Given the description of an element on the screen output the (x, y) to click on. 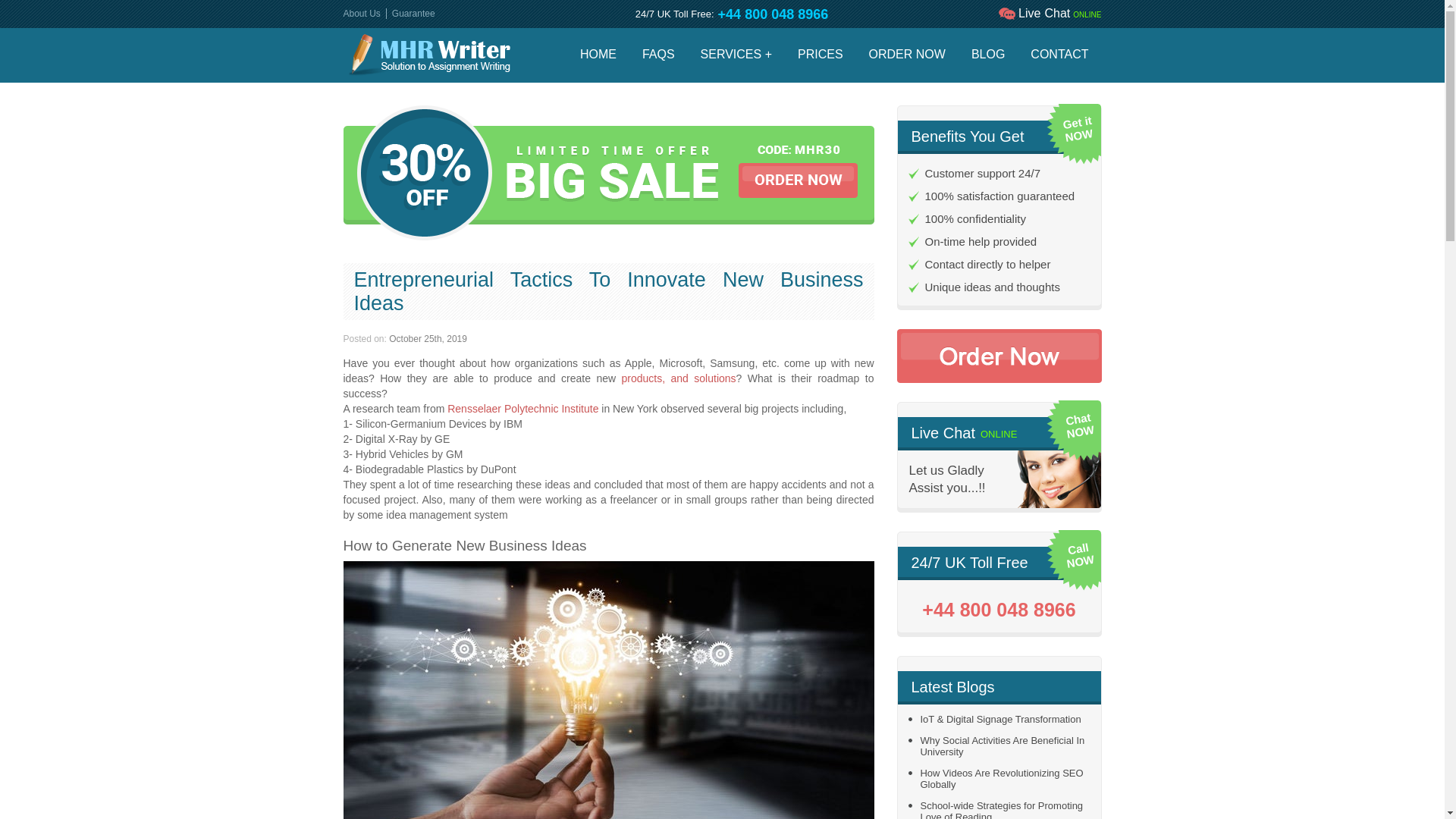
Pricing Plan (820, 54)
The MHR Homepage (597, 54)
Blog (987, 54)
About Us (361, 13)
Order Now (907, 54)
PRICES (820, 54)
Chat Using MHR Writer's LiveChat (1048, 13)
List of Our Services (735, 54)
About the MHR (361, 13)
FAQS (657, 54)
